Given the description of an element on the screen output the (x, y) to click on. 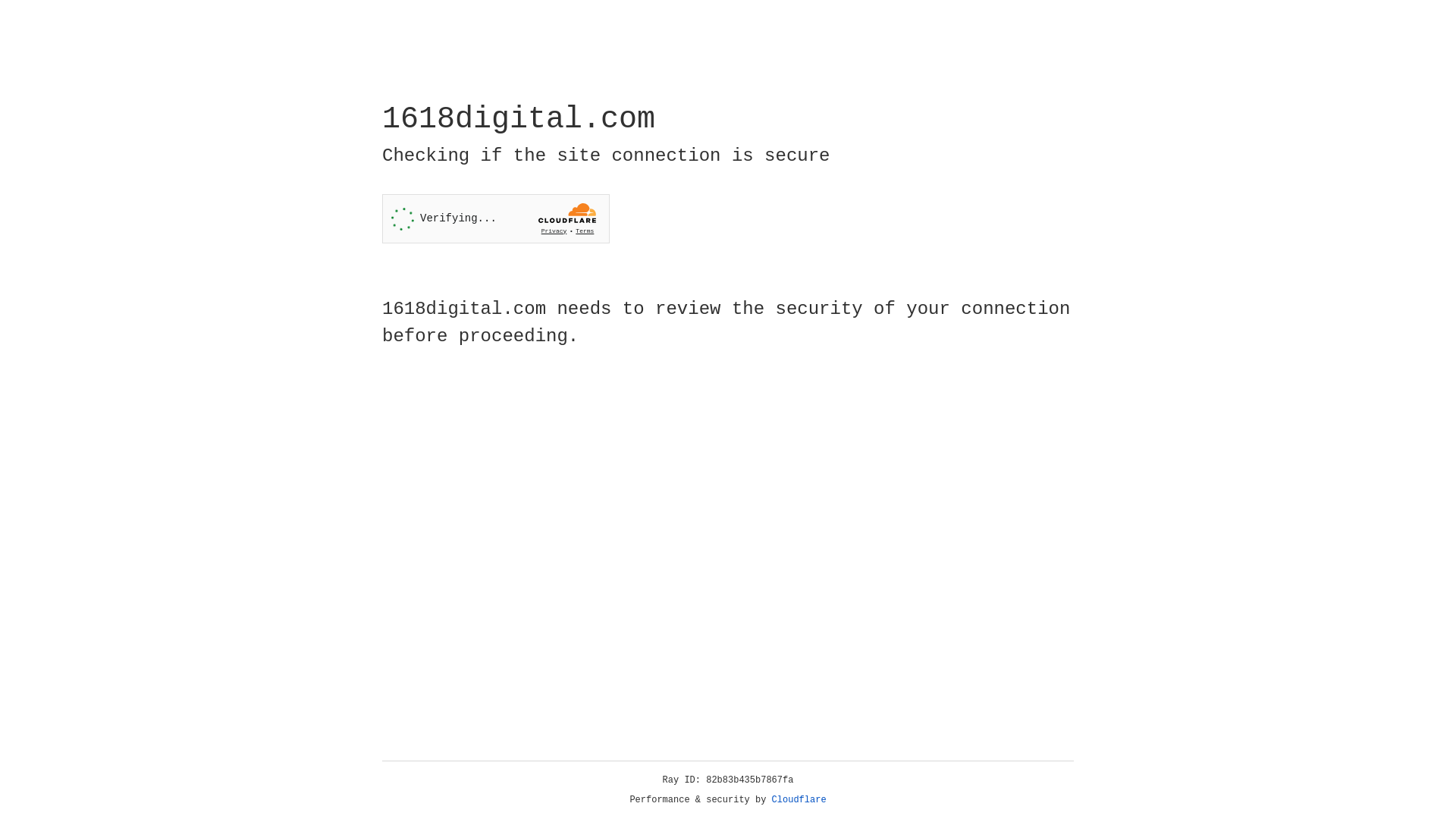
Widget containing a Cloudflare security challenge Element type: hover (495, 218)
Cloudflare Element type: text (798, 799)
